Given the description of an element on the screen output the (x, y) to click on. 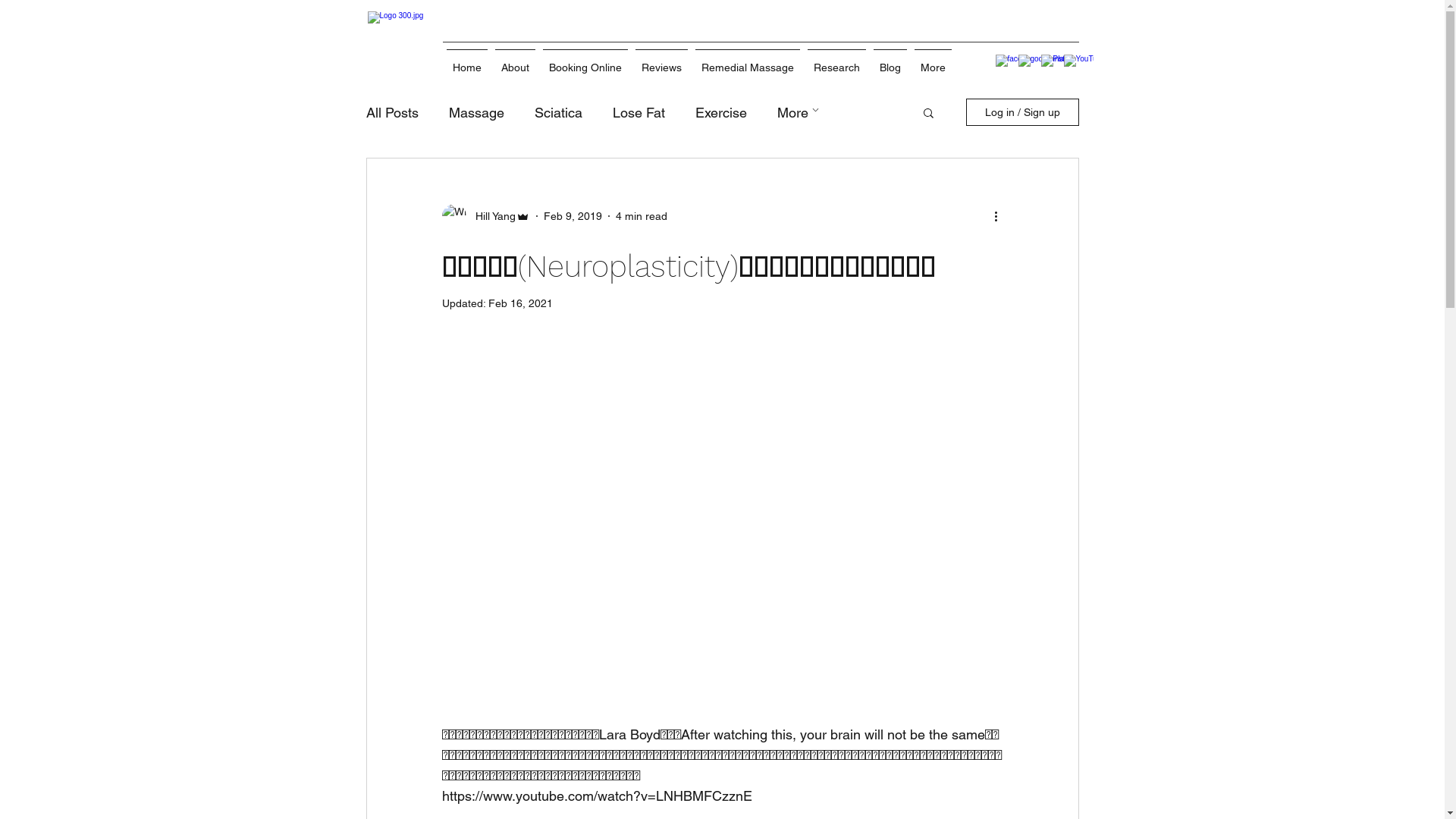
Log in / Sign up Element type: text (1022, 111)
Sciatica Element type: text (557, 112)
Exercise Element type: text (720, 112)
All Posts Element type: text (391, 112)
Remedial Massage Element type: text (747, 60)
Massage Element type: text (476, 112)
Booking Online Element type: text (584, 60)
Blog Element type: text (889, 60)
Reviews Element type: text (660, 60)
Home Element type: text (466, 60)
Research Element type: text (836, 60)
Lose Fat Element type: text (638, 112)
About Element type: text (515, 60)
